Given the description of an element on the screen output the (x, y) to click on. 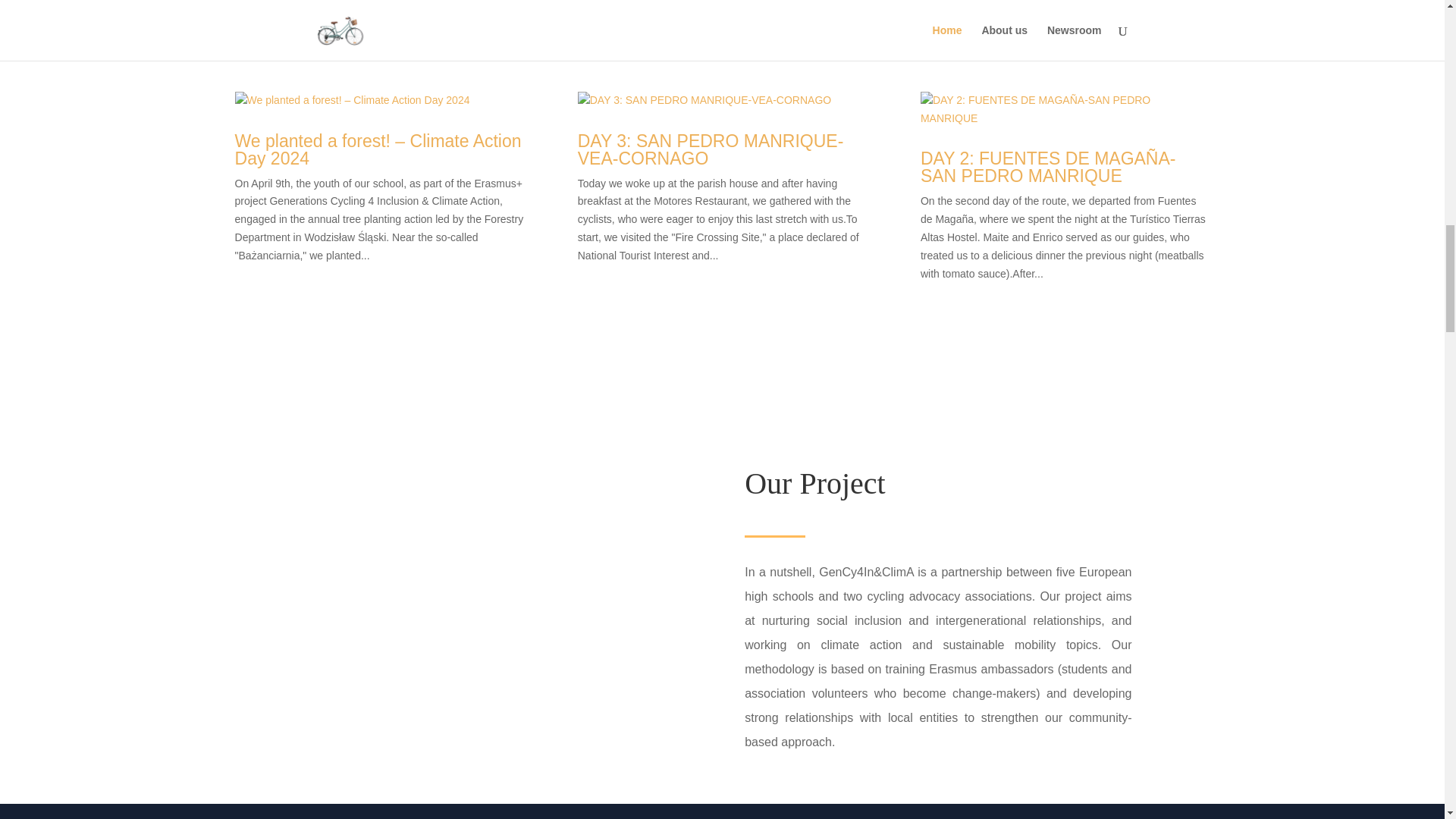
DAY 3: SAN PEDRO MANRIQUE-VEA-CORNAGO (711, 143)
